Given the description of an element on the screen output the (x, y) to click on. 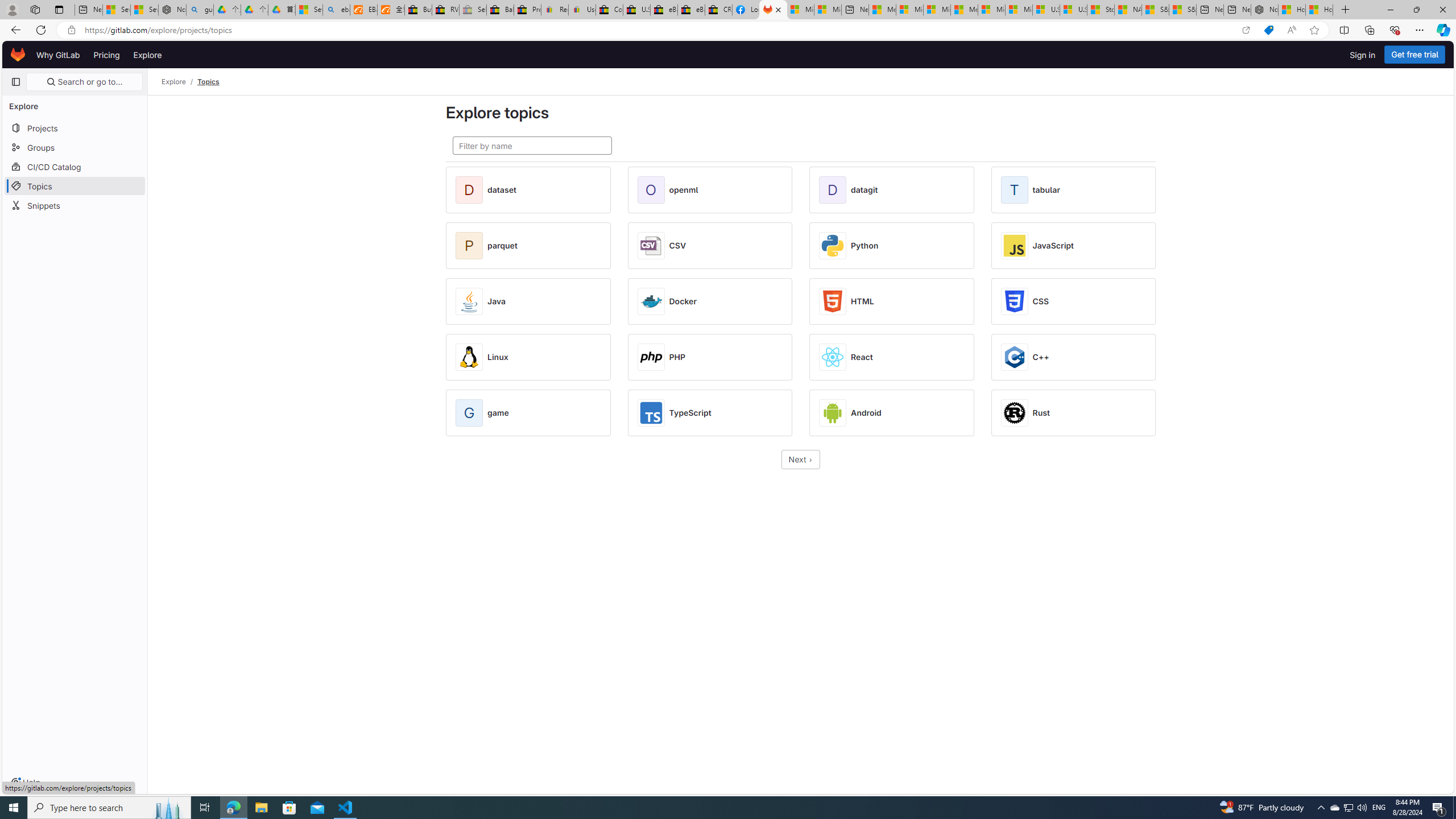
Class: s8 (810, 459)
G (471, 413)
Primary navigation sidebar (15, 81)
Filter by name (531, 145)
Microsoft account | Privacy (909, 9)
Get free trial (1414, 54)
Rust (1040, 412)
Projects (74, 127)
Buy Auto Parts & Accessories | eBay (418, 9)
Consumer Health Data Privacy Policy - eBay Inc. (609, 9)
Why GitLab (58, 54)
datagit (863, 189)
CI/CD Catalog (74, 166)
